Given the description of an element on the screen output the (x, y) to click on. 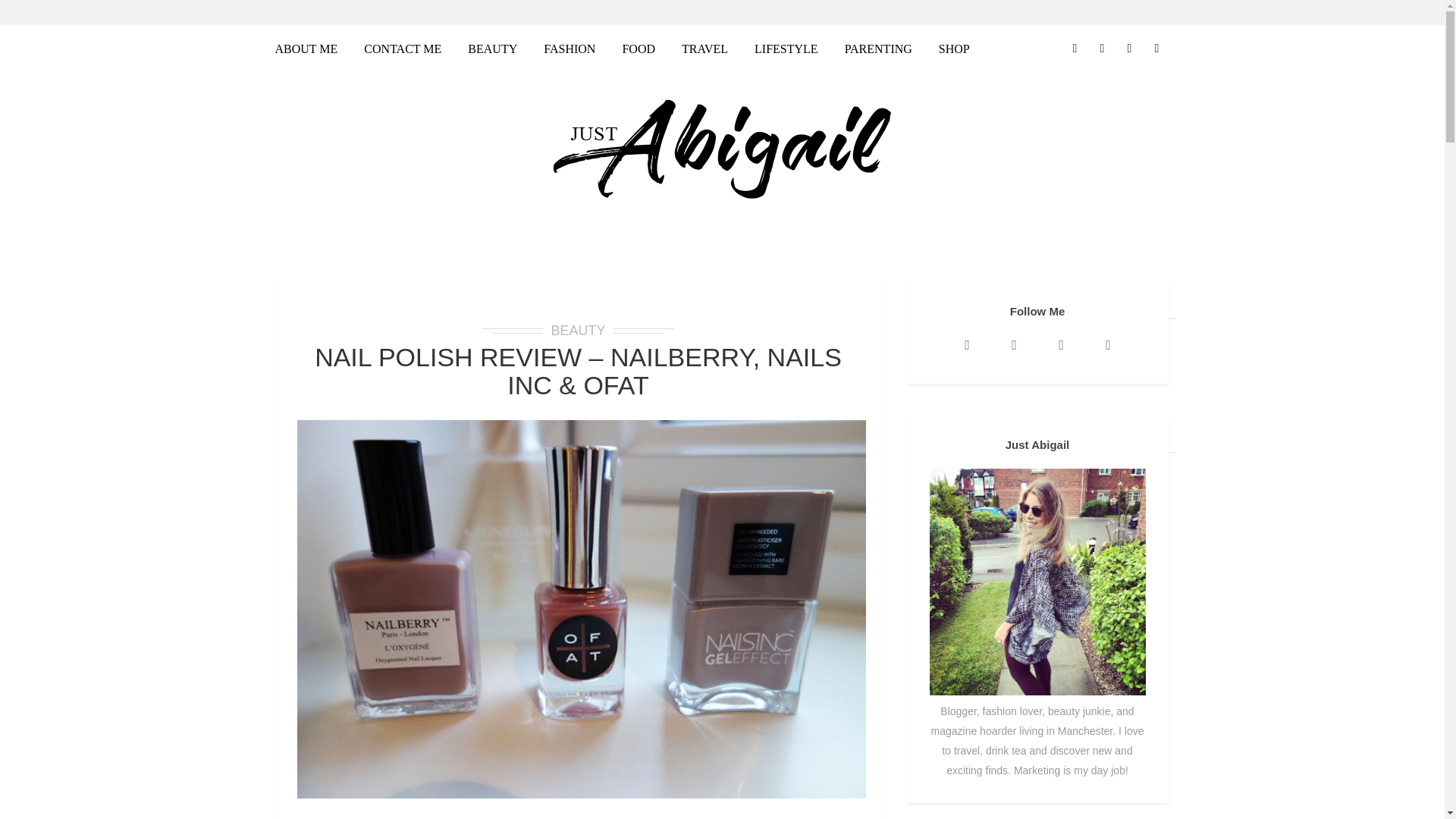
Instagram (966, 343)
CONTACT ME (402, 50)
PARENTING (877, 50)
BEAUTY (577, 330)
LIFESTYLE (785, 50)
BEAUTY (492, 50)
TRAVEL (704, 50)
SHOP (954, 50)
FASHION (569, 50)
ABOUT ME (312, 50)
FOOD (638, 50)
